Given the description of an element on the screen output the (x, y) to click on. 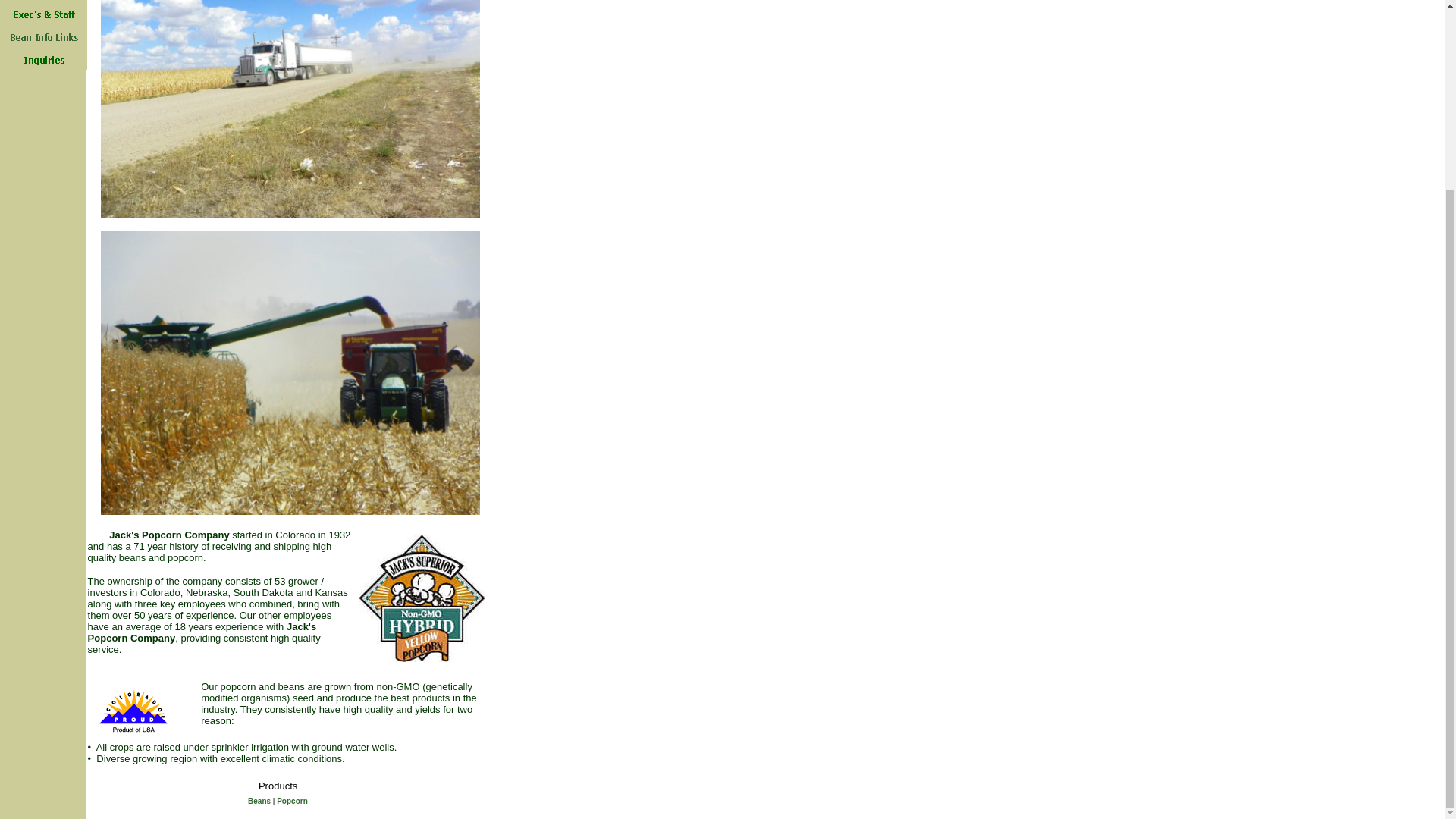
Popcorn (291, 800)
Beans (258, 800)
